Given the description of an element on the screen output the (x, y) to click on. 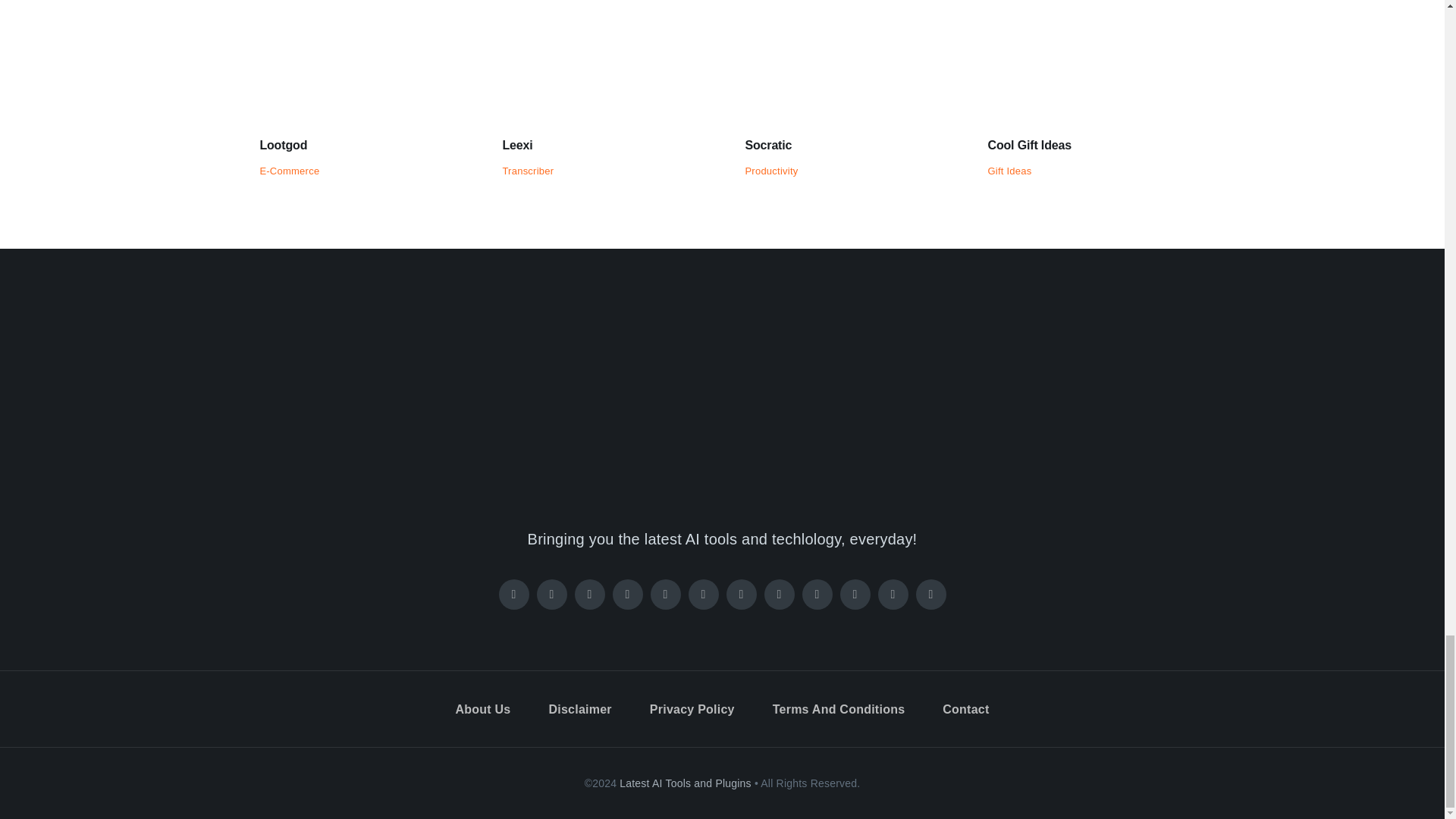
Pinterest (627, 594)
Tiktok (703, 594)
Instagram (590, 594)
Twitter (552, 594)
Facebook (514, 594)
YouTube (741, 594)
Twitch (665, 594)
